Given the description of an element on the screen output the (x, y) to click on. 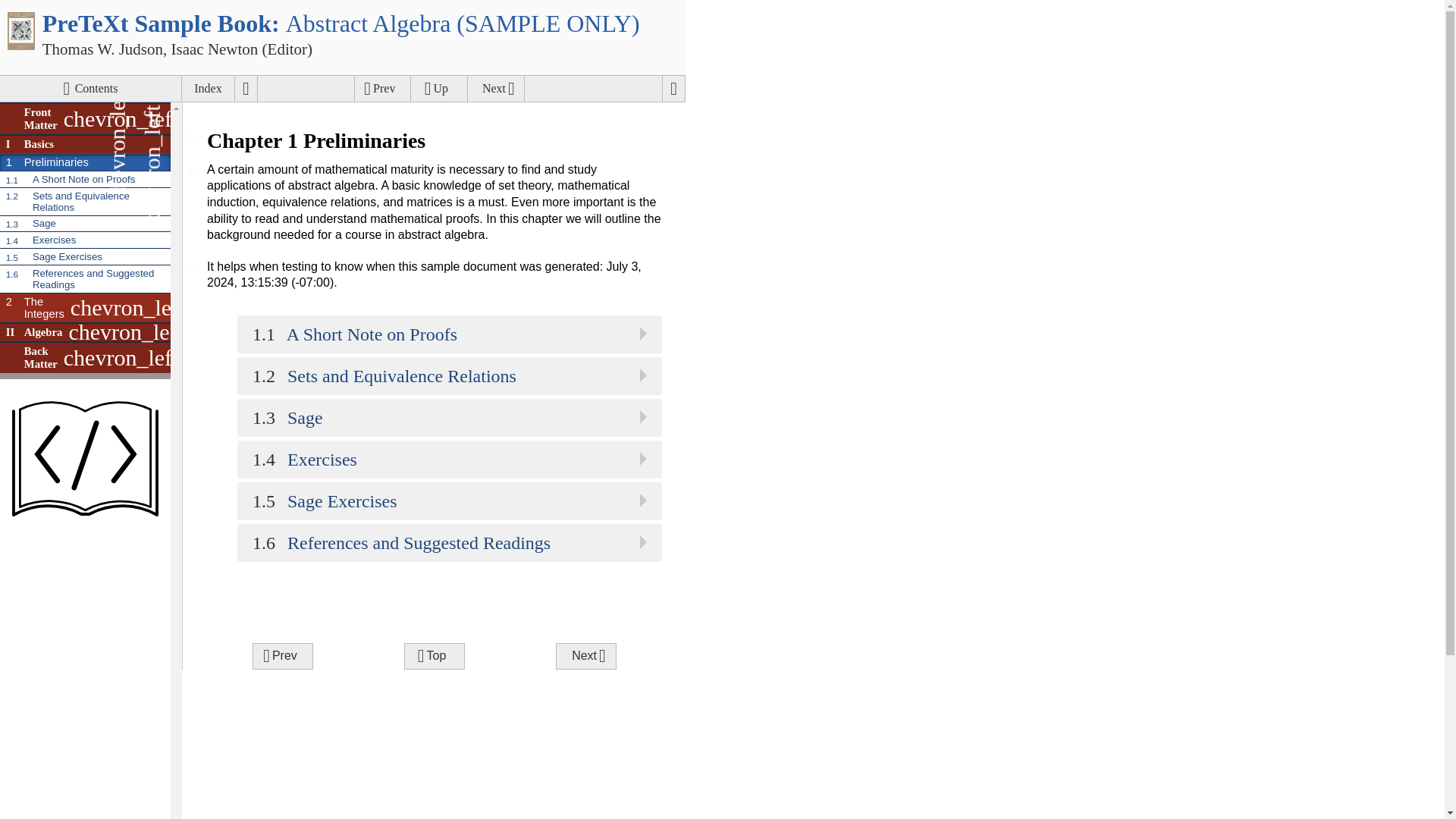
Front Matter (29, 119)
Next (495, 88)
Index (28, 144)
Close part (208, 88)
Expand backmatter (117, 144)
Copy permalink for Chapter 1: Preliminaries (121, 358)
Index (85, 223)
Search book (45, 161)
Open Scratch ActiveCode (191, 138)
Expand chapter (208, 88)
